Given the description of an element on the screen output the (x, y) to click on. 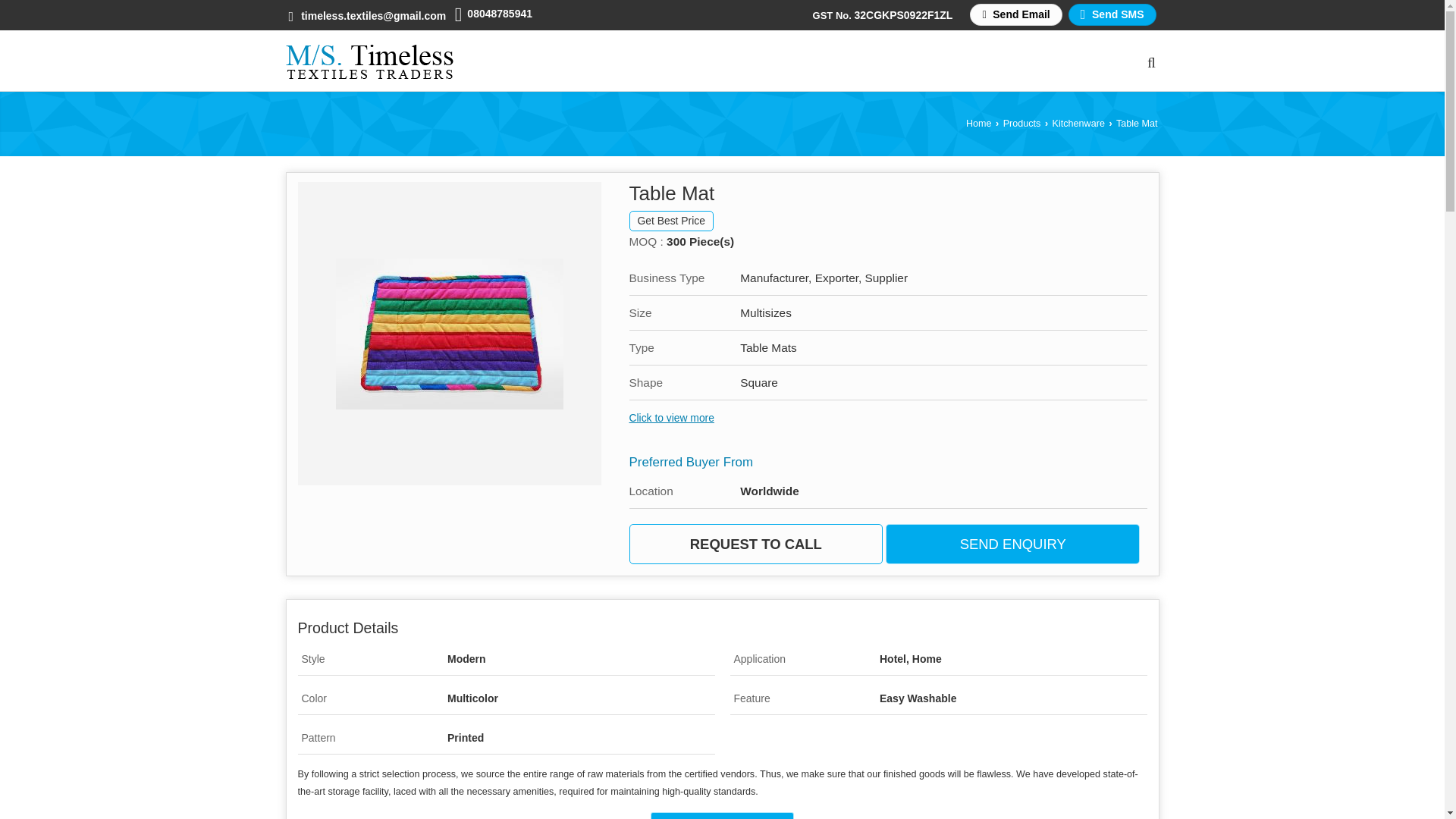
Timeless Textiles Traders (368, 60)
Send Email (1015, 14)
Timeless Textiles Traders (368, 61)
Send SMS (1112, 14)
